Given the description of an element on the screen output the (x, y) to click on. 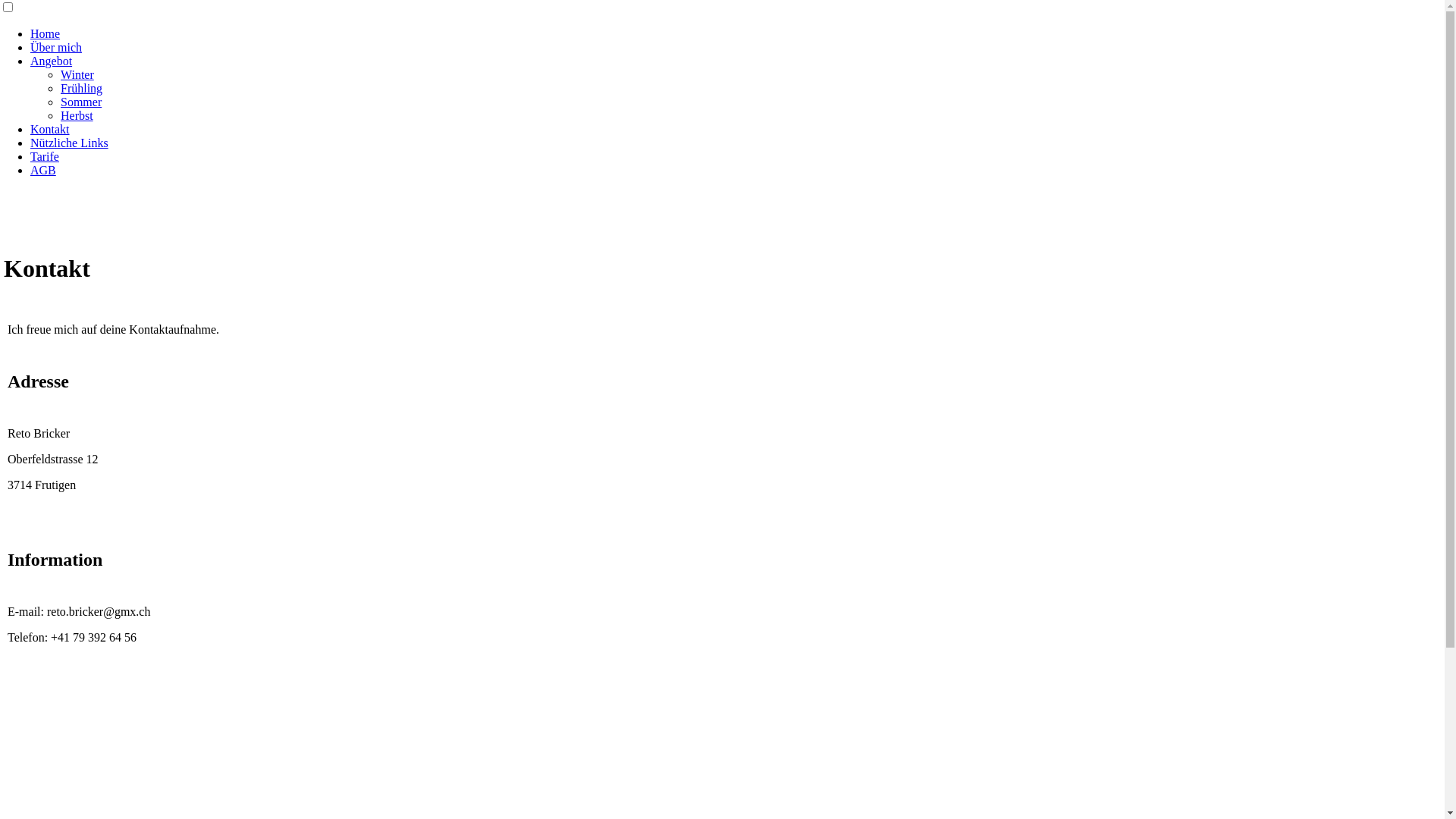
AGB Element type: text (43, 169)
Tarife Element type: text (44, 156)
Sommer Element type: text (80, 101)
Home Element type: text (44, 33)
Winter Element type: text (77, 74)
Herbst Element type: text (76, 115)
Kontakt Element type: text (49, 128)
Angebot Element type: text (51, 60)
